Given the description of an element on the screen output the (x, y) to click on. 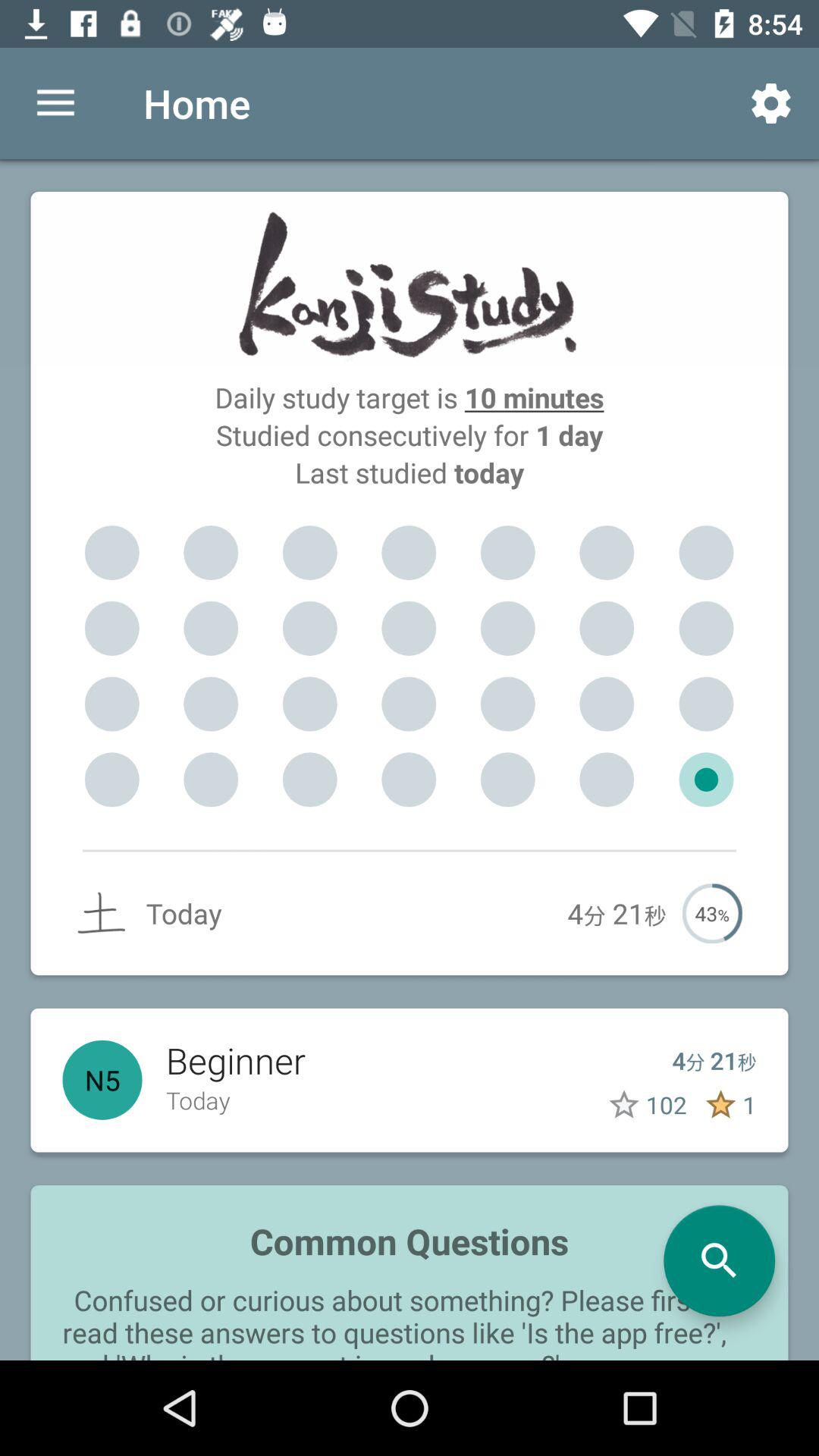
turn off the item below the last studied today icon (309, 552)
